Given the description of an element on the screen output the (x, y) to click on. 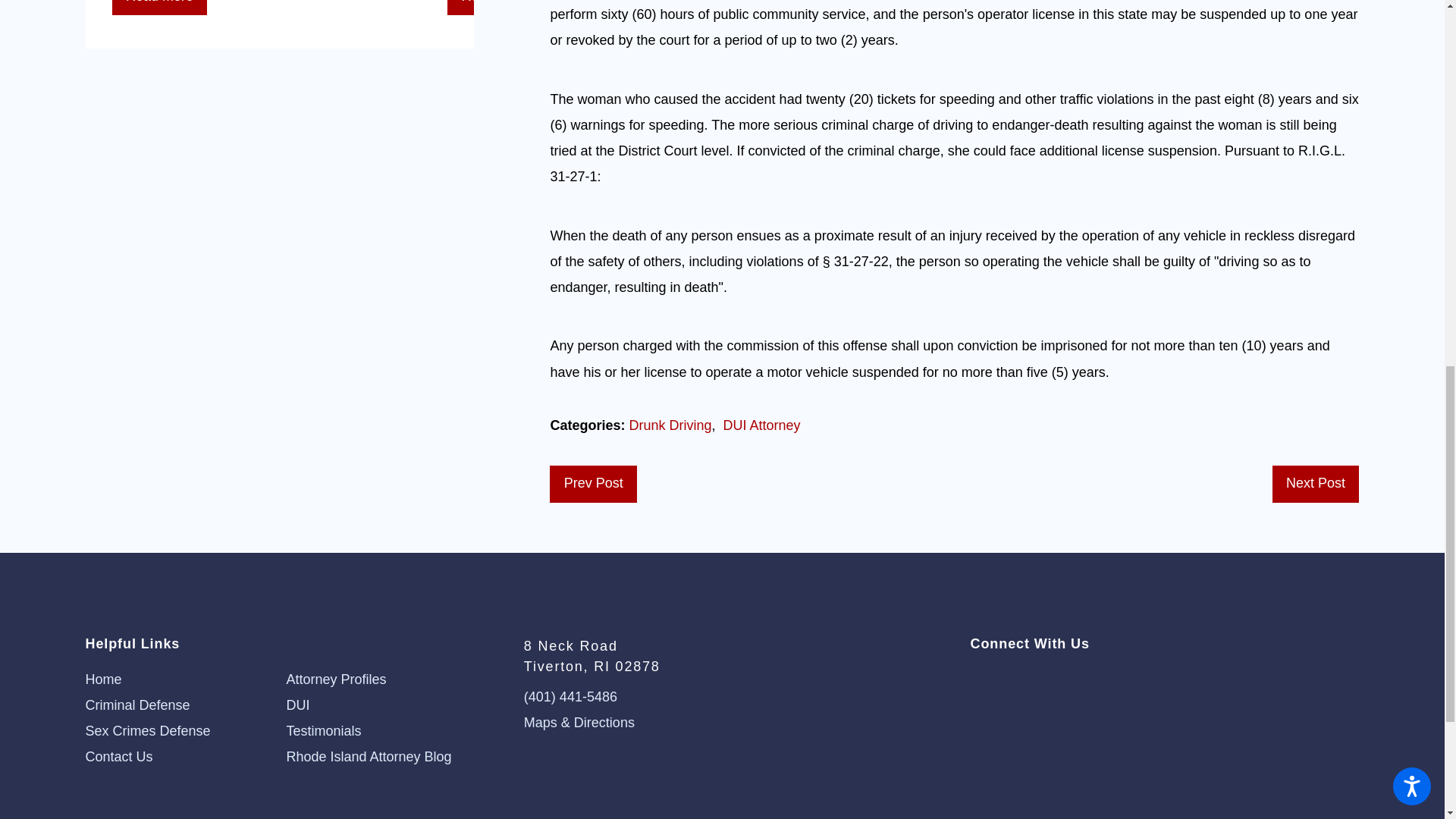
Facebook (1005, 680)
LinkedIn (1033, 680)
Avvo (1086, 680)
Google Business Profile (1059, 680)
Twitter (977, 680)
